Given the description of an element on the screen output the (x, y) to click on. 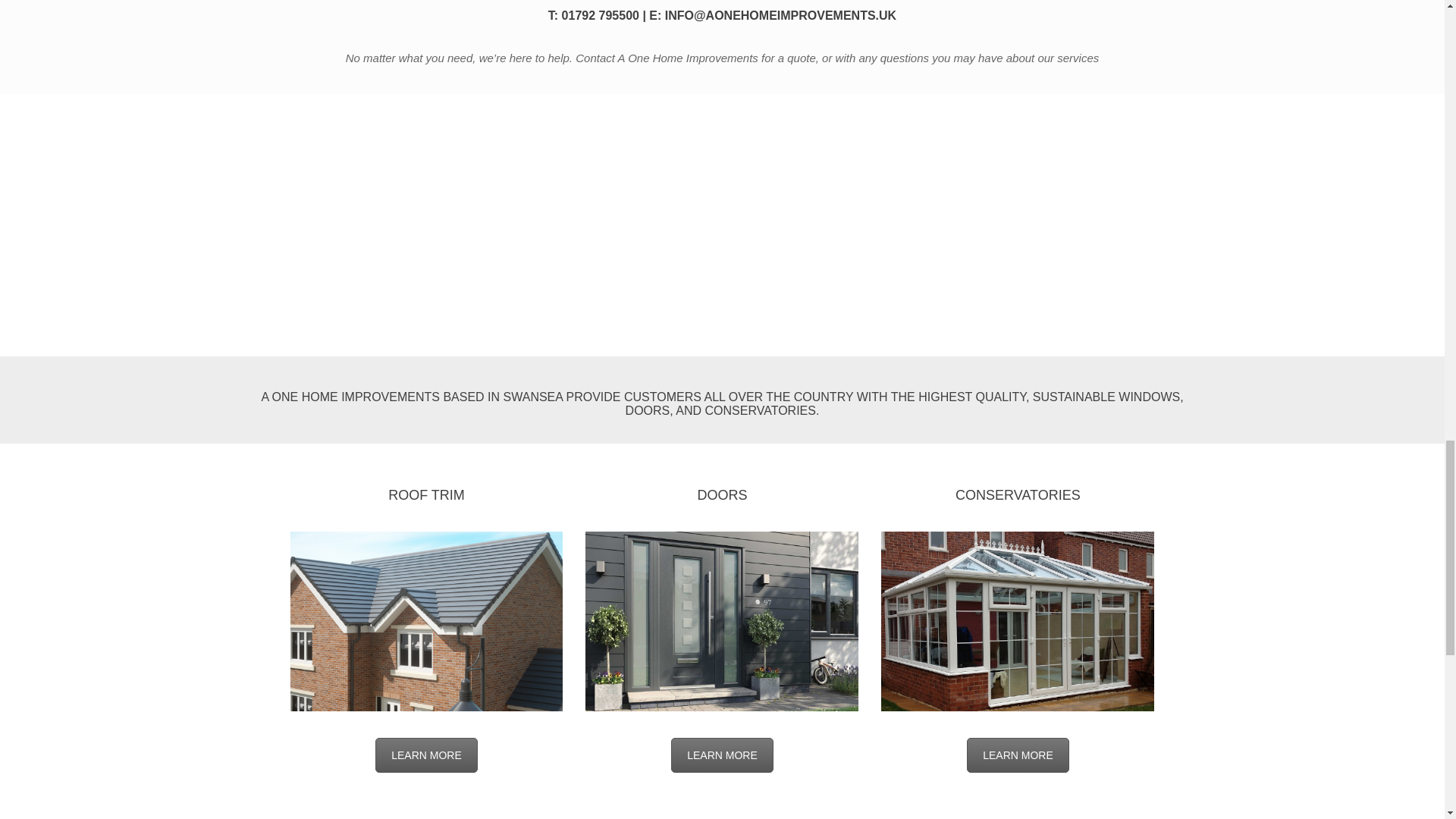
LEARN MORE (1017, 755)
LEARN MORE (426, 755)
Untitled (425, 621)
LEARN MORE (722, 755)
